Given the description of an element on the screen output the (x, y) to click on. 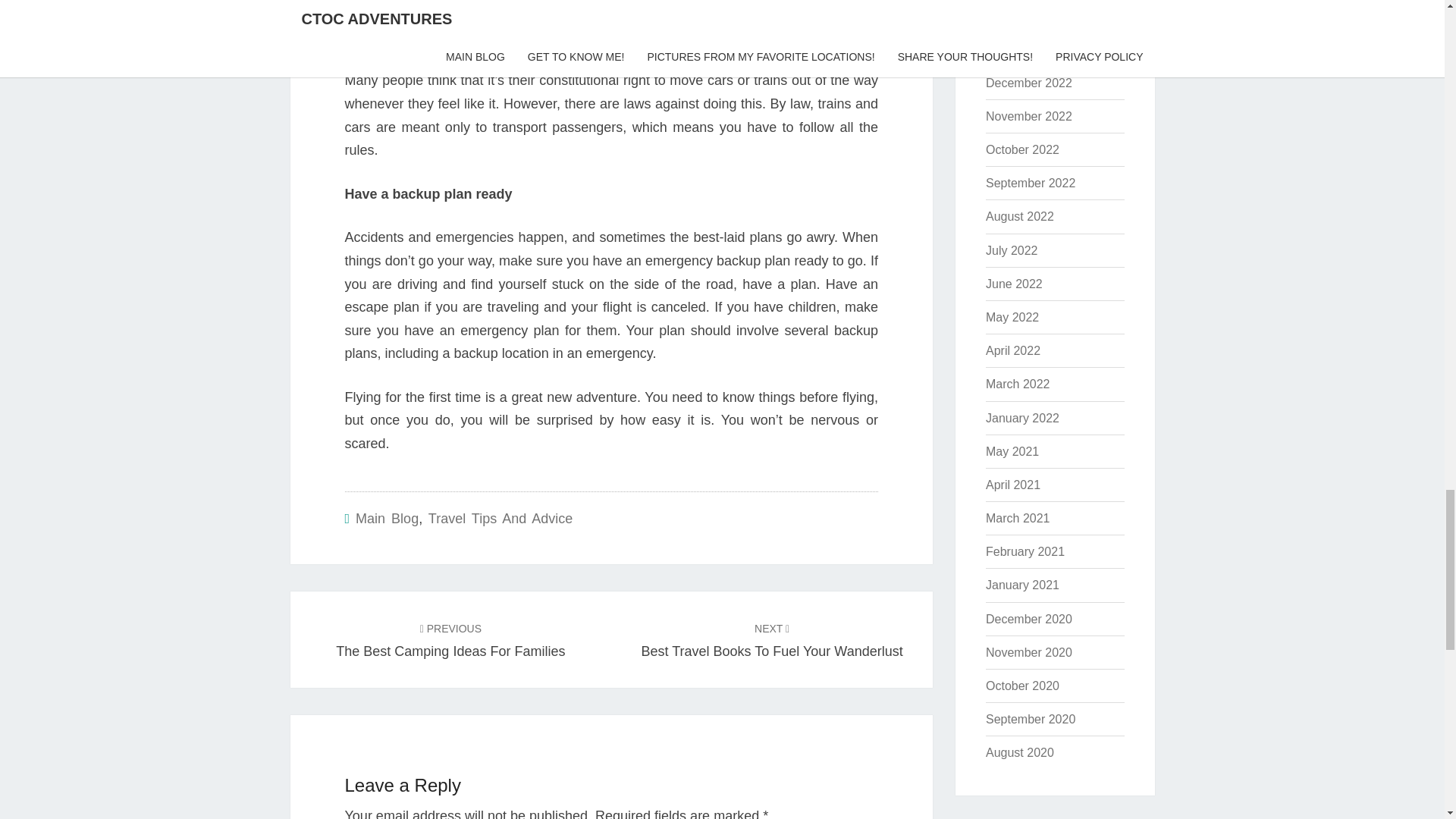
February 2023 (1024, 15)
Main Blog (387, 518)
Travel Tips And Advice (450, 639)
September 2022 (500, 518)
October 2022 (1030, 182)
November 2022 (1022, 149)
December 2022 (1028, 115)
January 2023 (1028, 82)
